Given the description of an element on the screen output the (x, y) to click on. 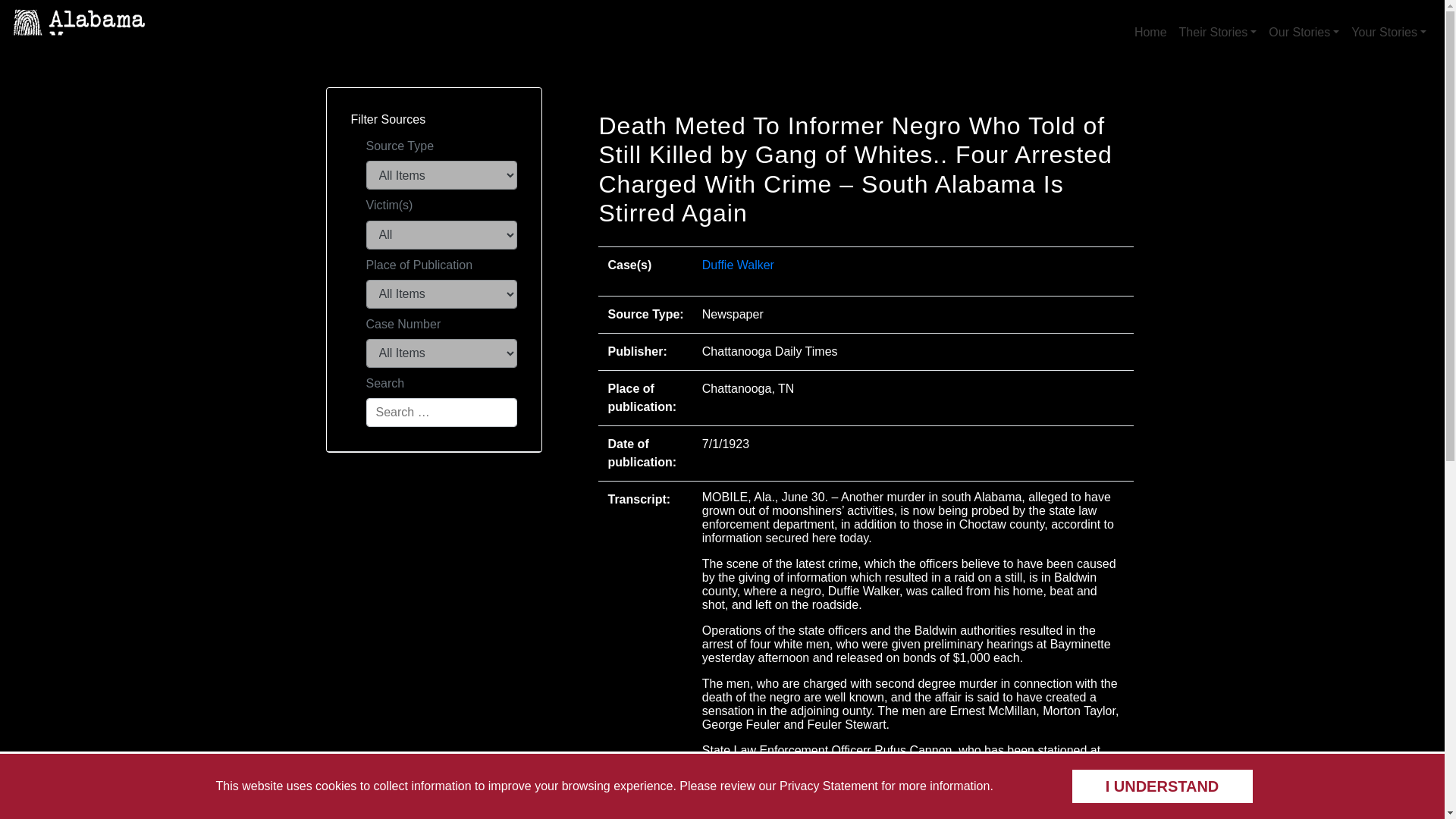
Duffie Walker (737, 264)
I UNDERSTAND (1161, 786)
Home (1150, 32)
Their Stories (1218, 32)
Alabama Memory (265, 48)
Your Stories (1388, 32)
Our Stories (1303, 32)
Search (440, 412)
Privacy Statement (827, 785)
